Given the description of an element on the screen output the (x, y) to click on. 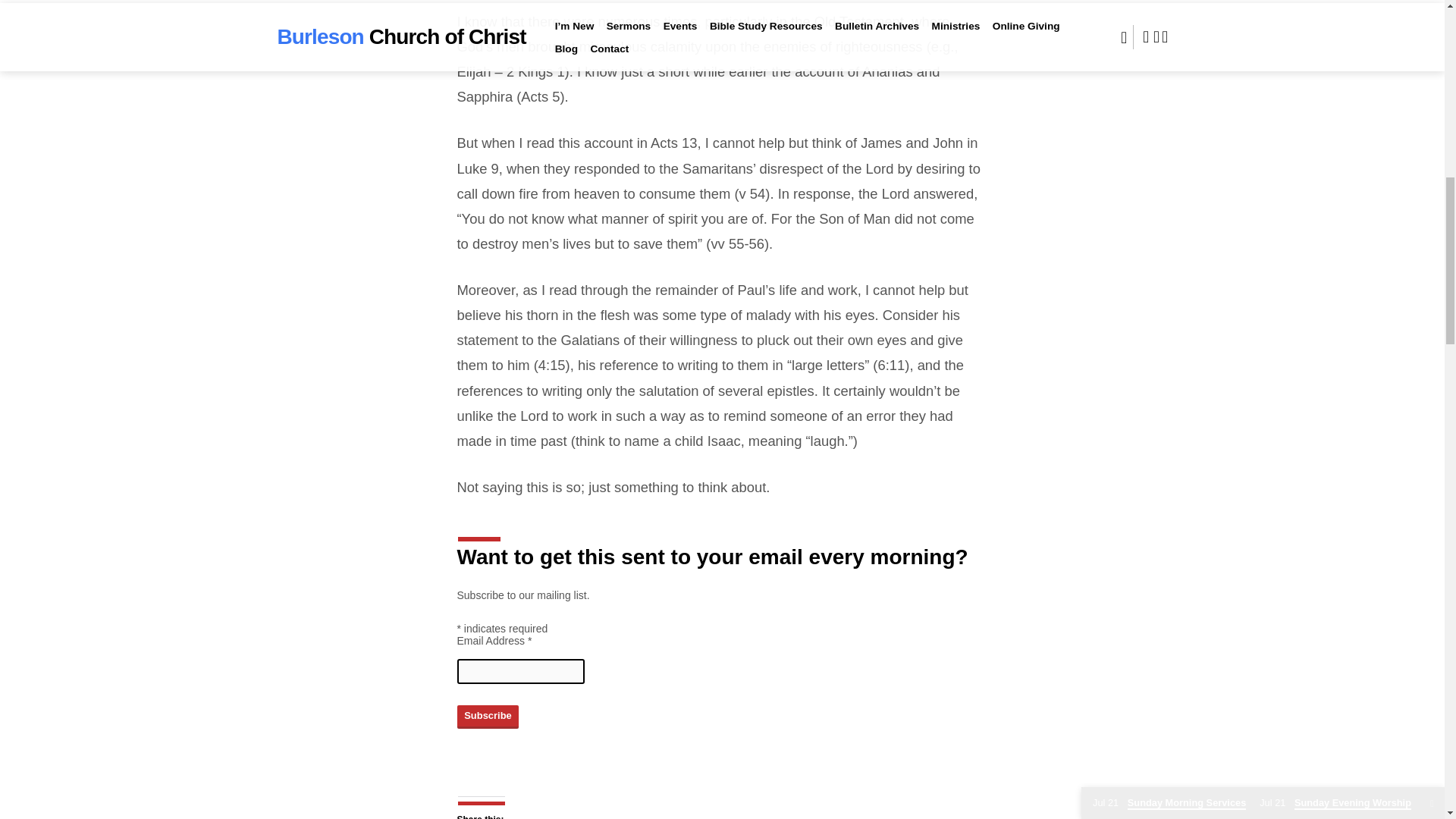
Subscribe (487, 716)
